Given the description of an element on the screen output the (x, y) to click on. 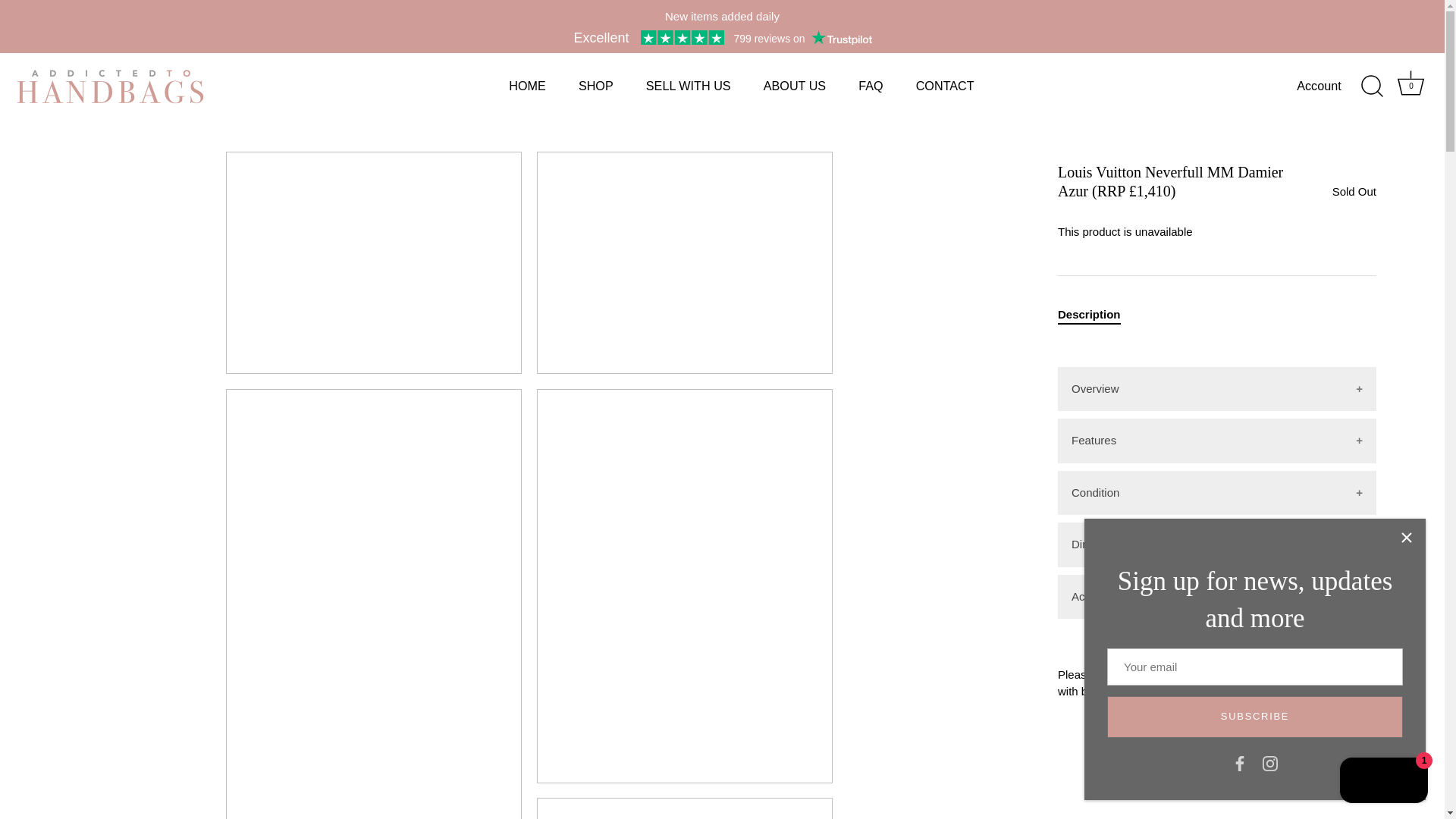
HOME (527, 85)
Shopify online store chat (1383, 781)
SUBSCRIBE (1254, 716)
Cart (1411, 86)
SHOP (1410, 82)
SELL WITH US (595, 85)
Account (687, 85)
CONTACT (1332, 85)
Instagram (944, 85)
FAQ (1270, 762)
Description (871, 85)
Instagram (1089, 314)
ABOUT US (1270, 763)
